Given the description of an element on the screen output the (x, y) to click on. 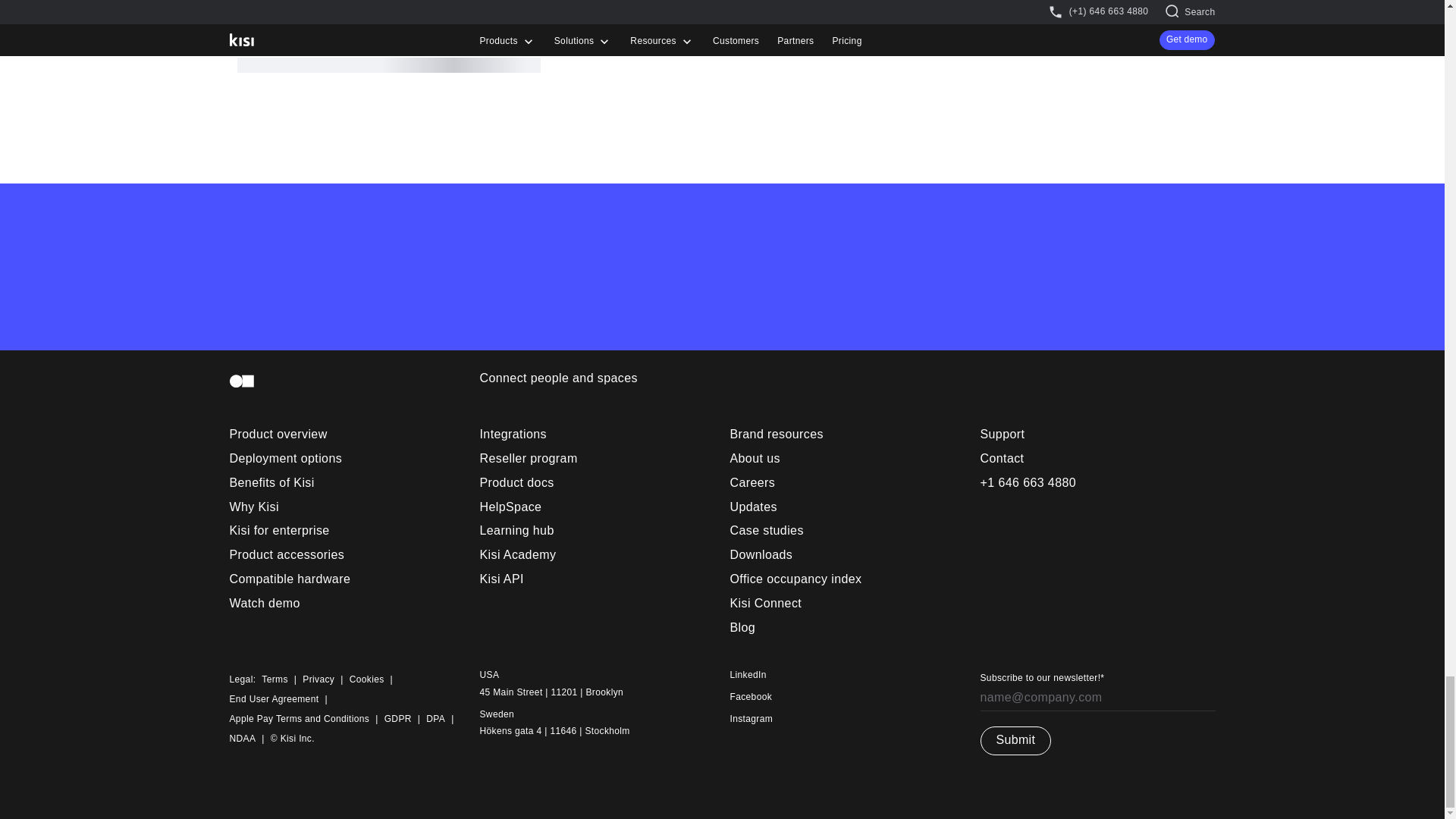
Kisi symbol (240, 380)
